Given the description of an element on the screen output the (x, y) to click on. 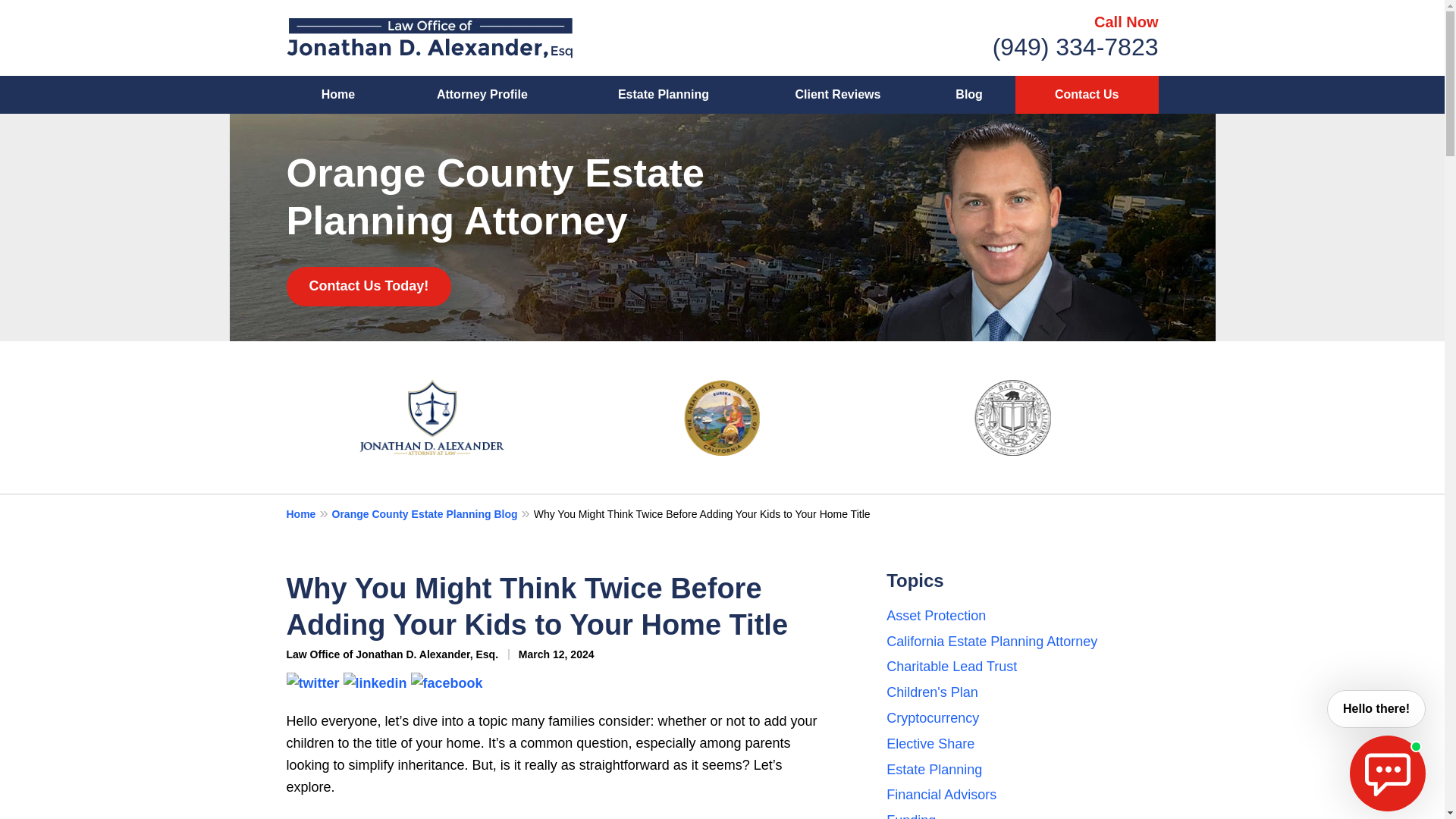
Charitable Lead Trust (951, 666)
Contact Us Today! (368, 286)
Asset Protection (935, 615)
Share (446, 681)
Share (374, 681)
Client Reviews (837, 94)
California Estate Planning Attorney (991, 641)
Elective Share (930, 743)
Estate Planning (662, 94)
Call Now (1125, 21)
